Given the description of an element on the screen output the (x, y) to click on. 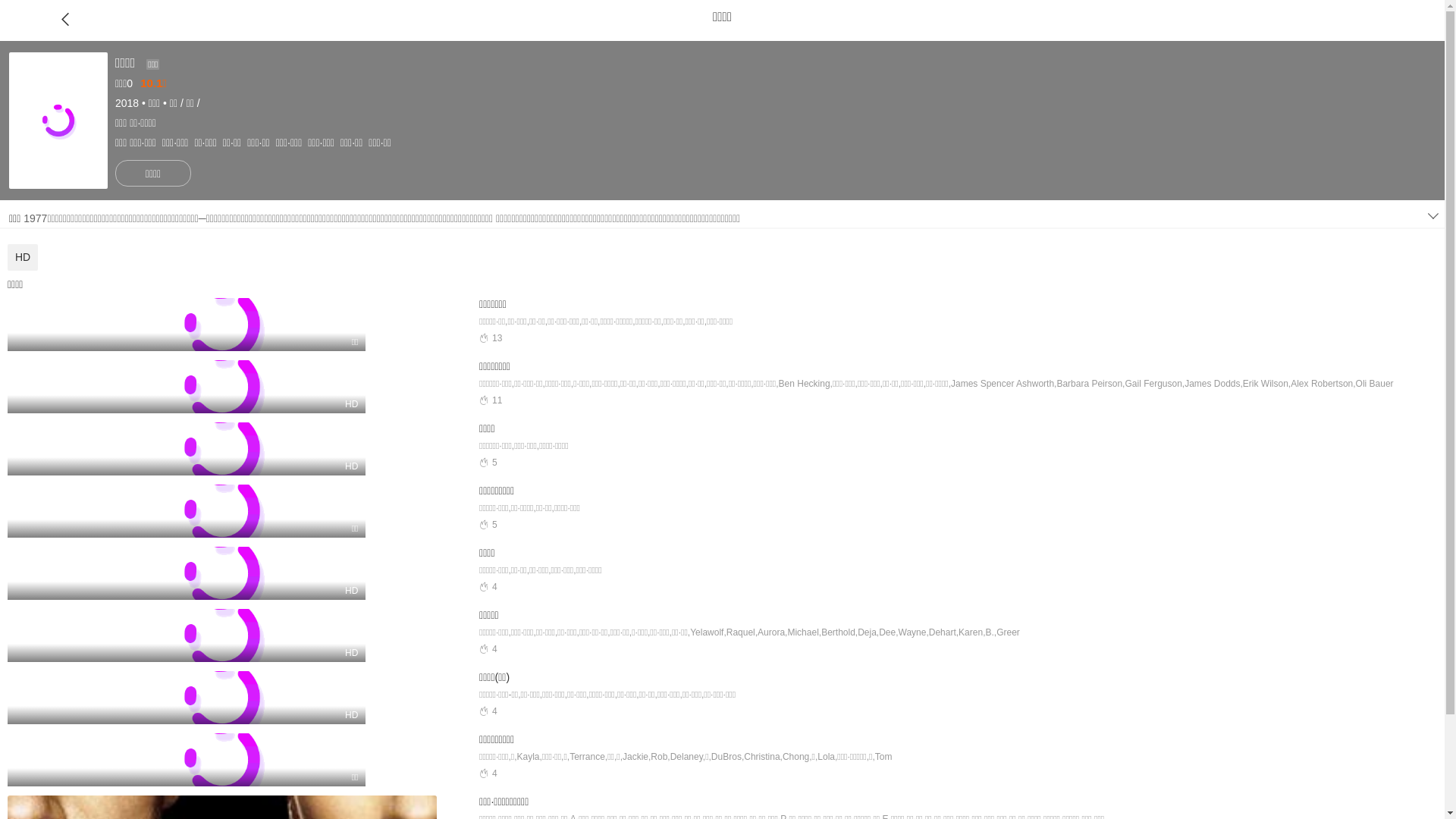
HD Element type: text (22, 257)
